Given the description of an element on the screen output the (x, y) to click on. 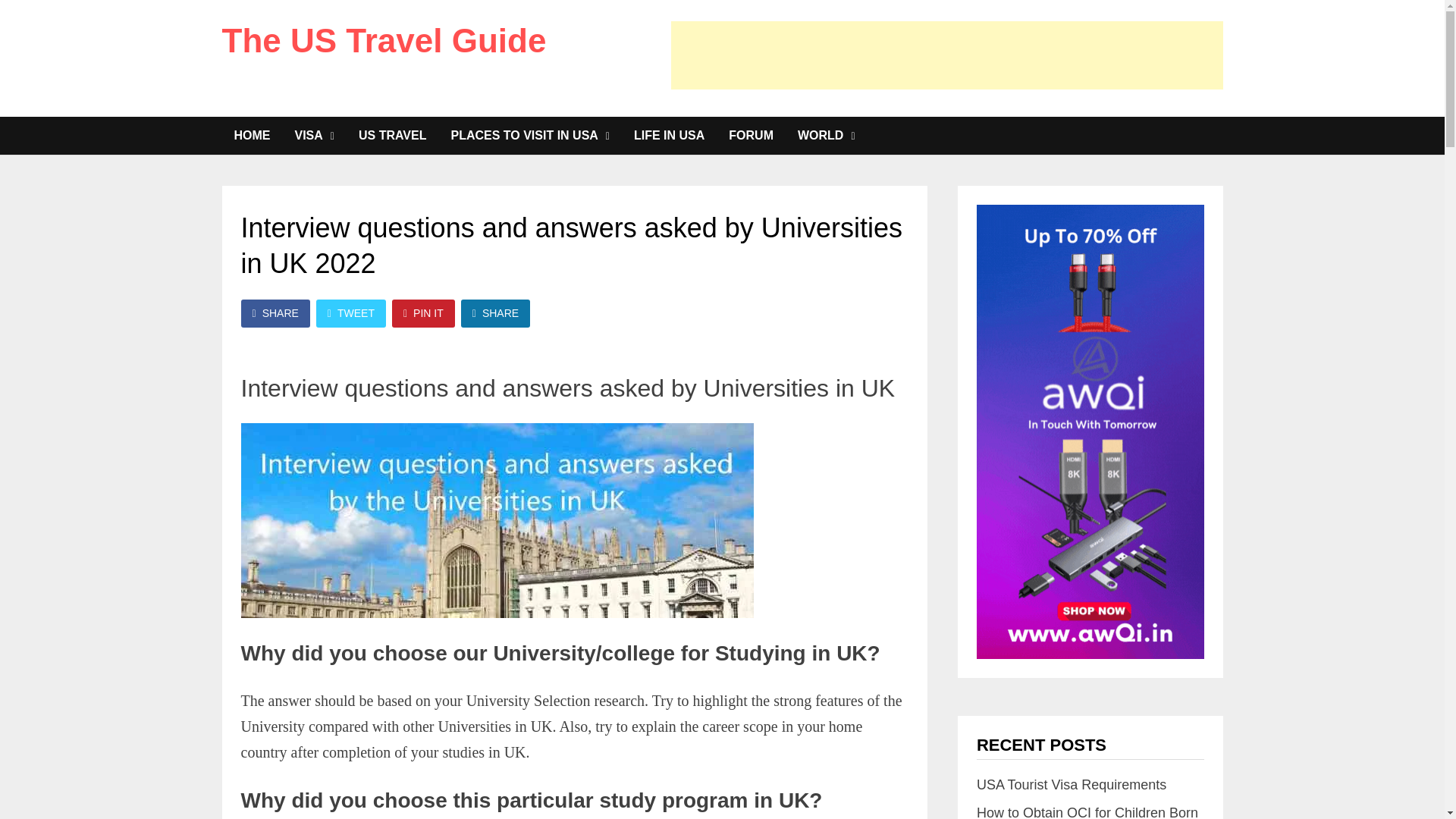
PLACES TO VISIT IN USA (529, 135)
US TRAVEL (392, 135)
The US Travel Guide (383, 40)
LIFE IN USA (668, 135)
WORLD (826, 135)
HOME (251, 135)
VISA (314, 135)
FORUM (751, 135)
Advertisement (946, 55)
